Given the description of an element on the screen output the (x, y) to click on. 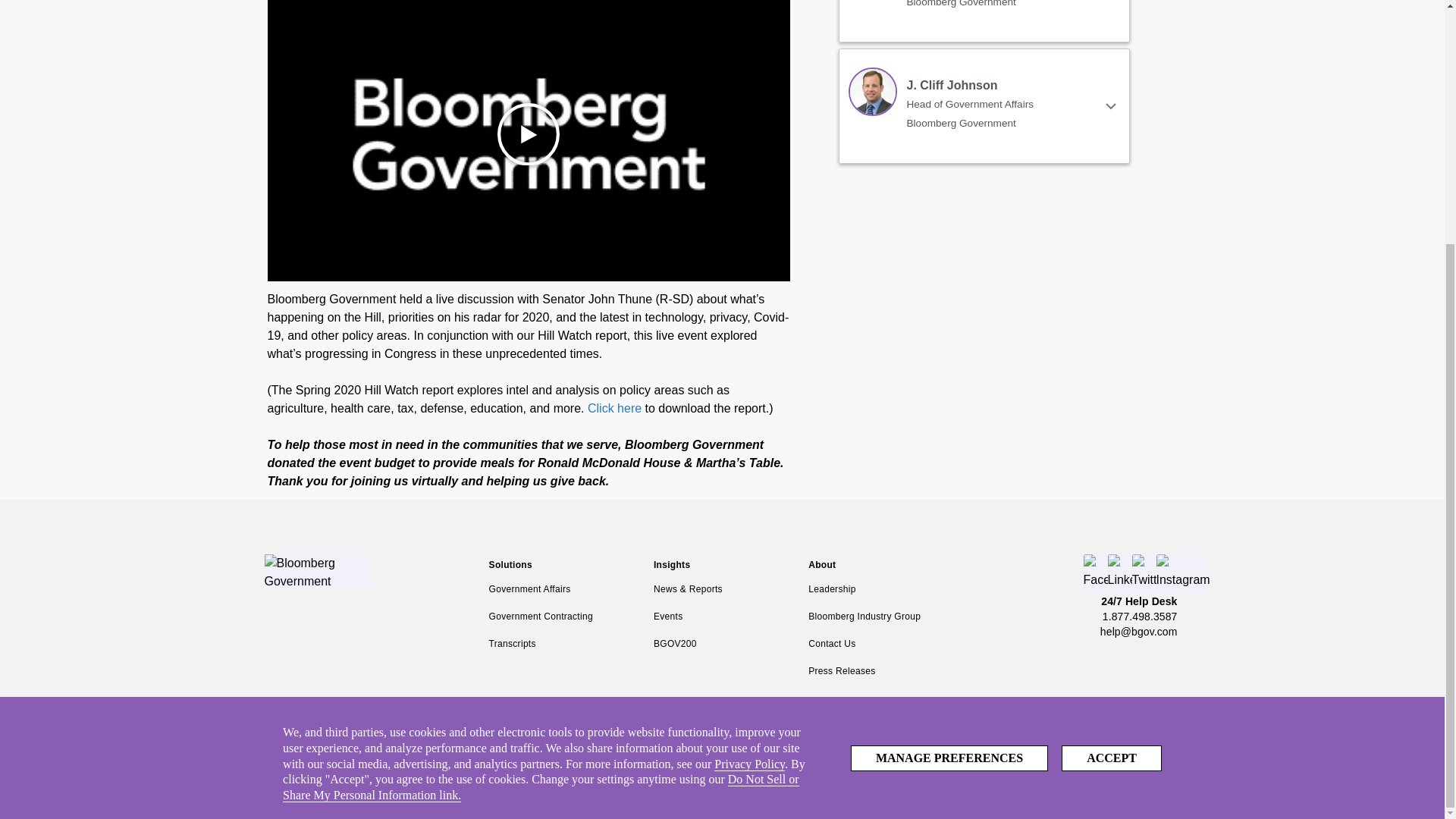
TOP (1403, 429)
